Given the description of an element on the screen output the (x, y) to click on. 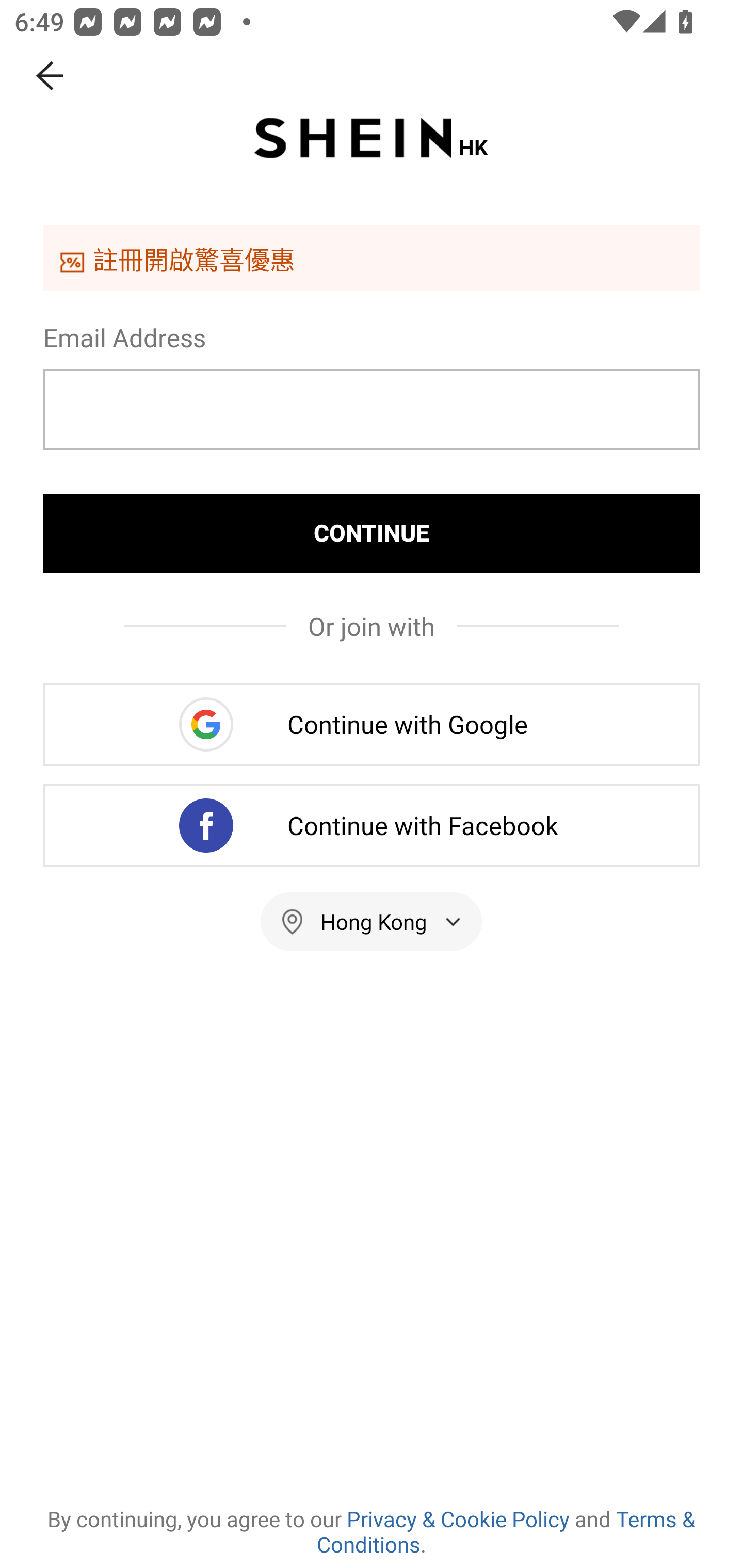
CLOSE (50, 75)
CONTINUE (371, 532)
Continue with Google (371, 724)
Continue with Facebook (371, 825)
Hong Kong (371, 921)
